Given the description of an element on the screen output the (x, y) to click on. 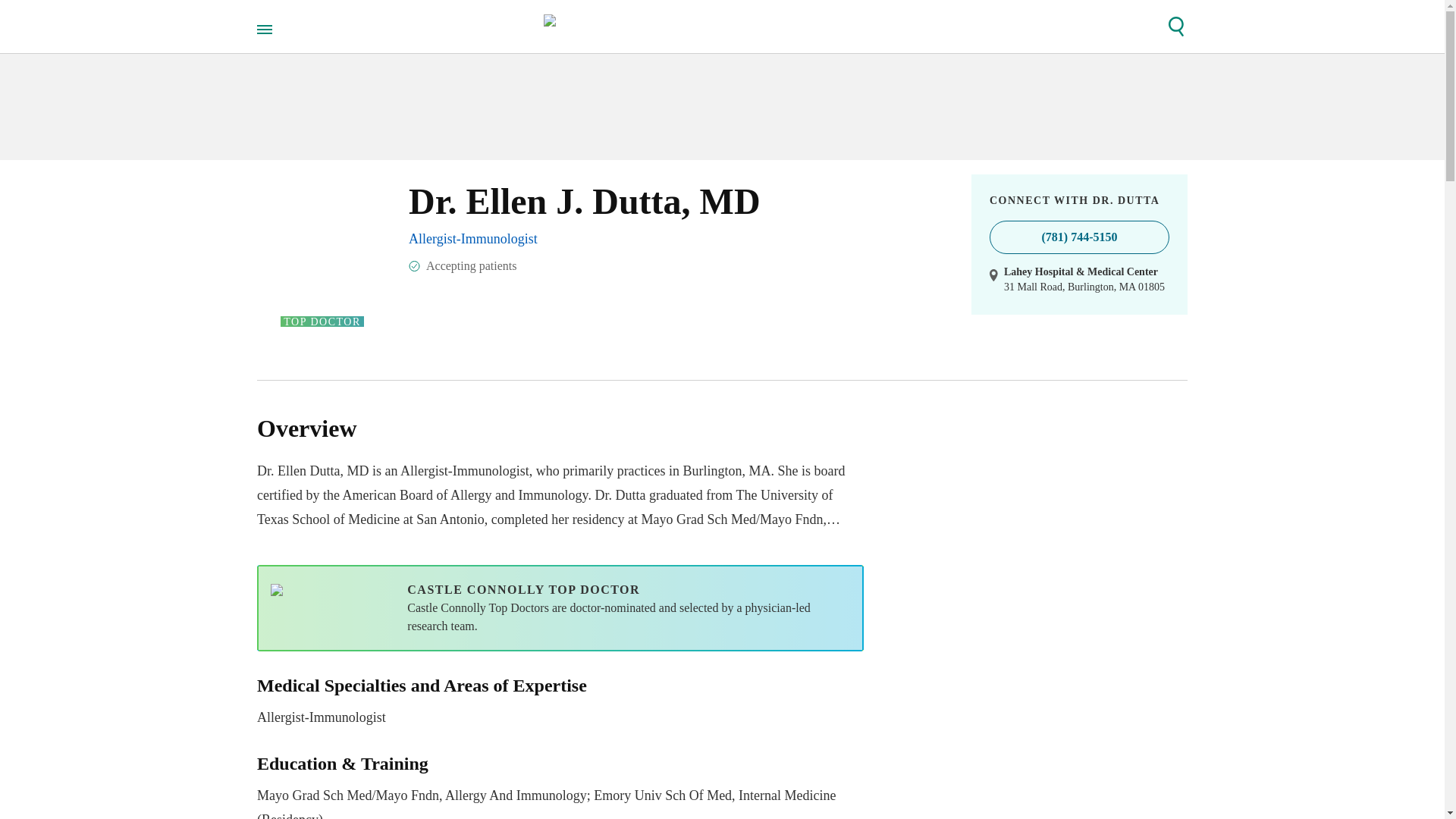
Allergist-Immunologist (473, 238)
